Given the description of an element on the screen output the (x, y) to click on. 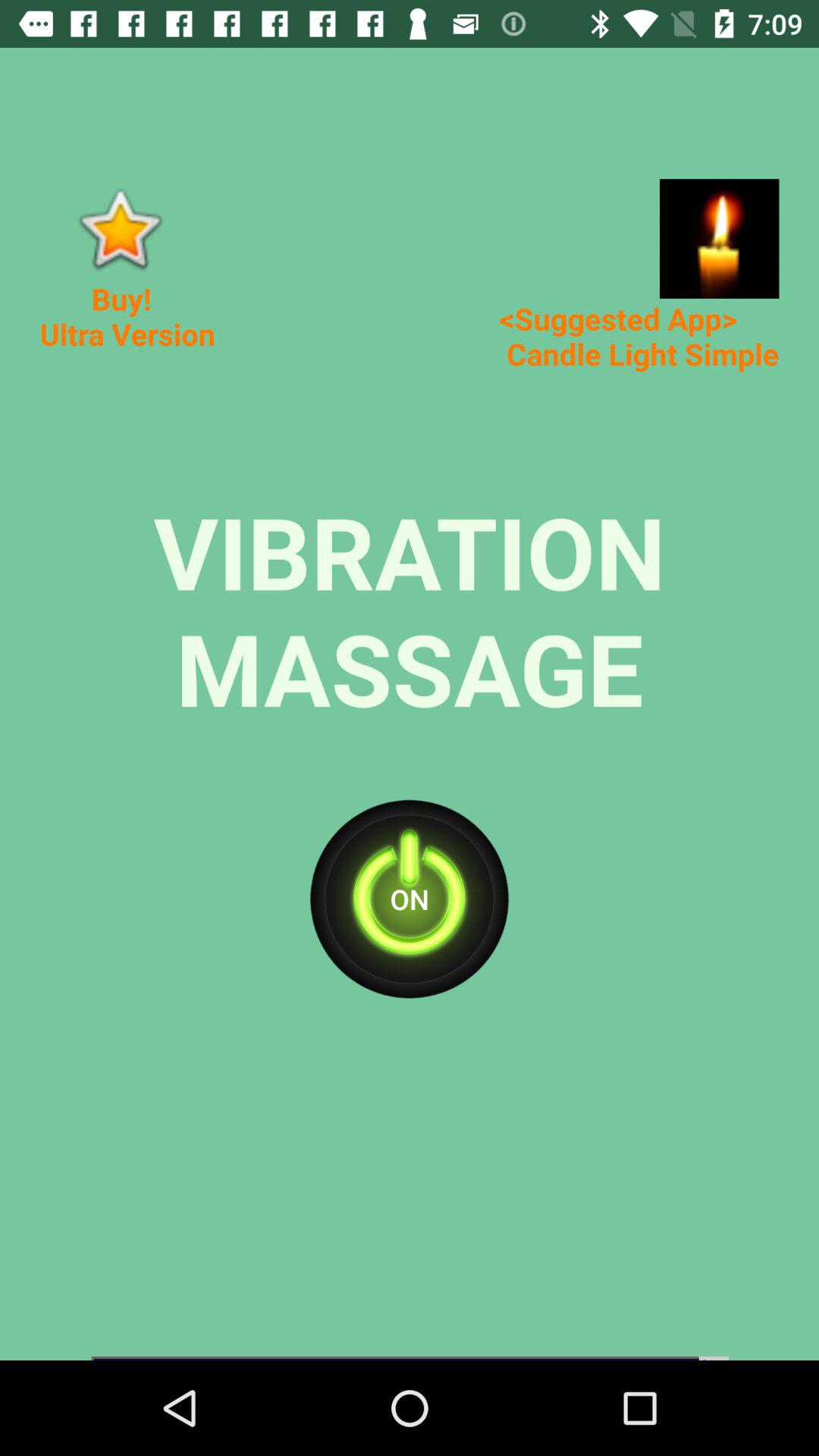
go to app (719, 238)
